Given the description of an element on the screen output the (x, y) to click on. 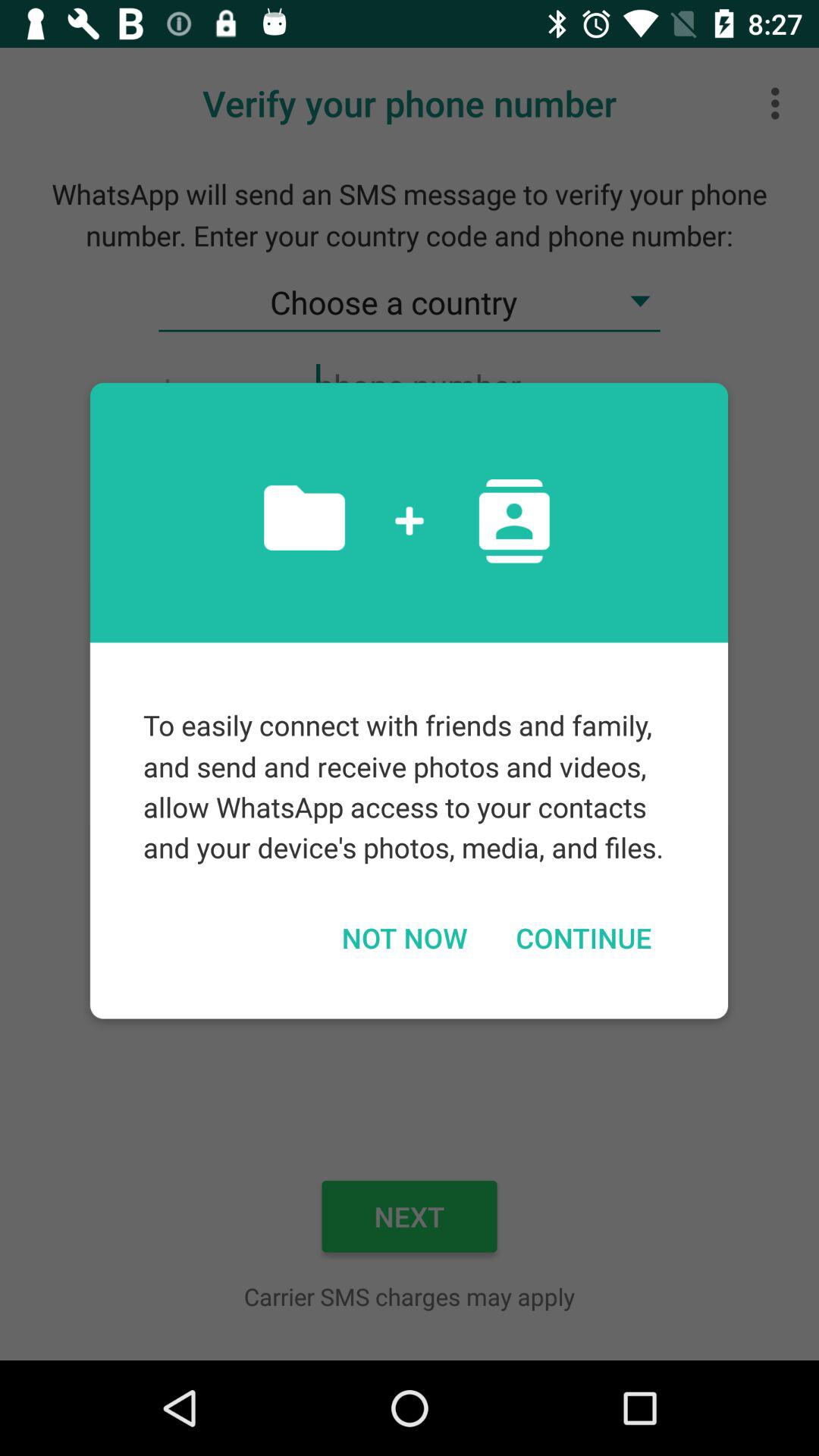
click not now icon (403, 937)
